Given the description of an element on the screen output the (x, y) to click on. 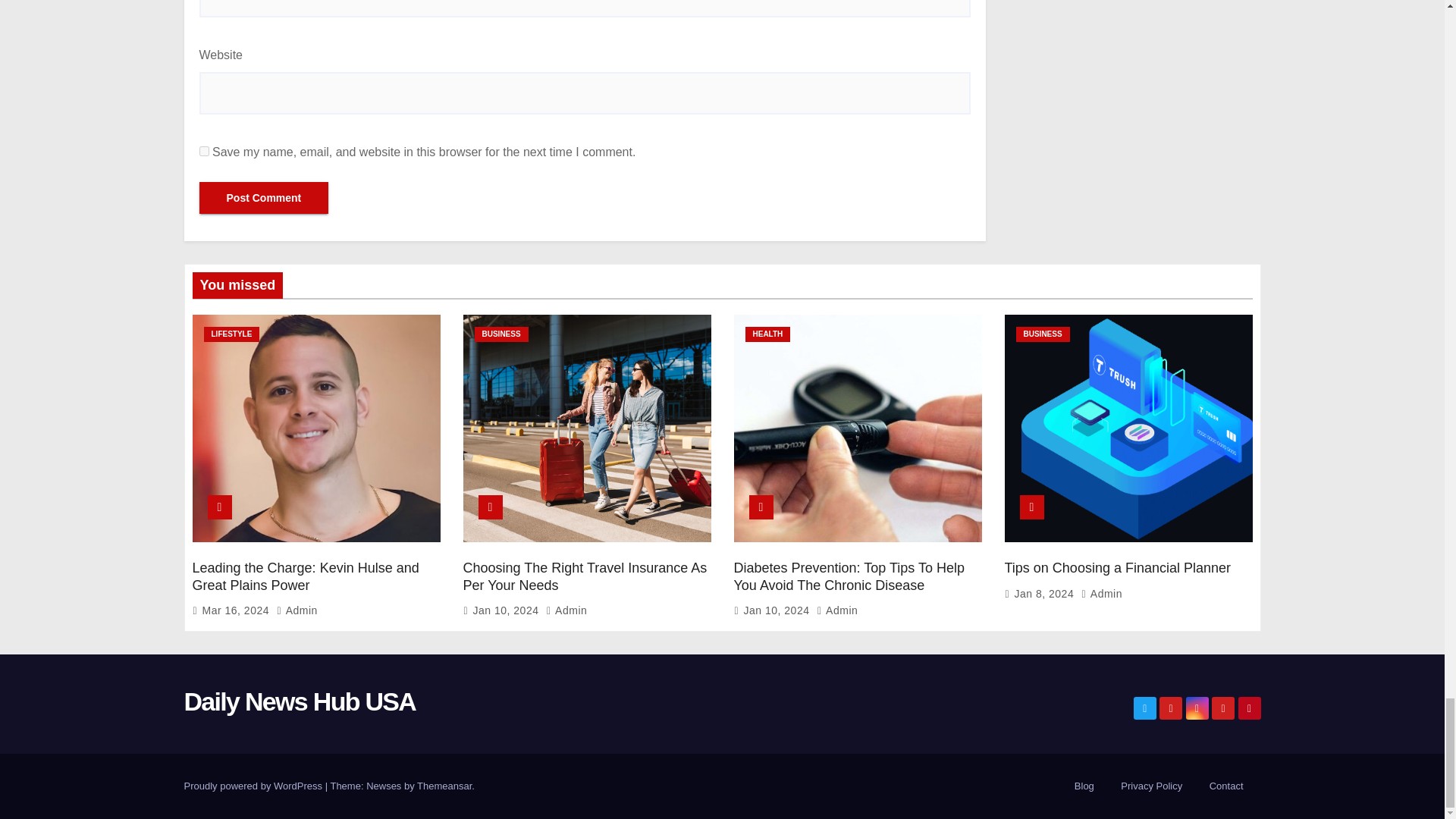
Post Comment (263, 197)
yes (203, 151)
